Given the description of an element on the screen output the (x, y) to click on. 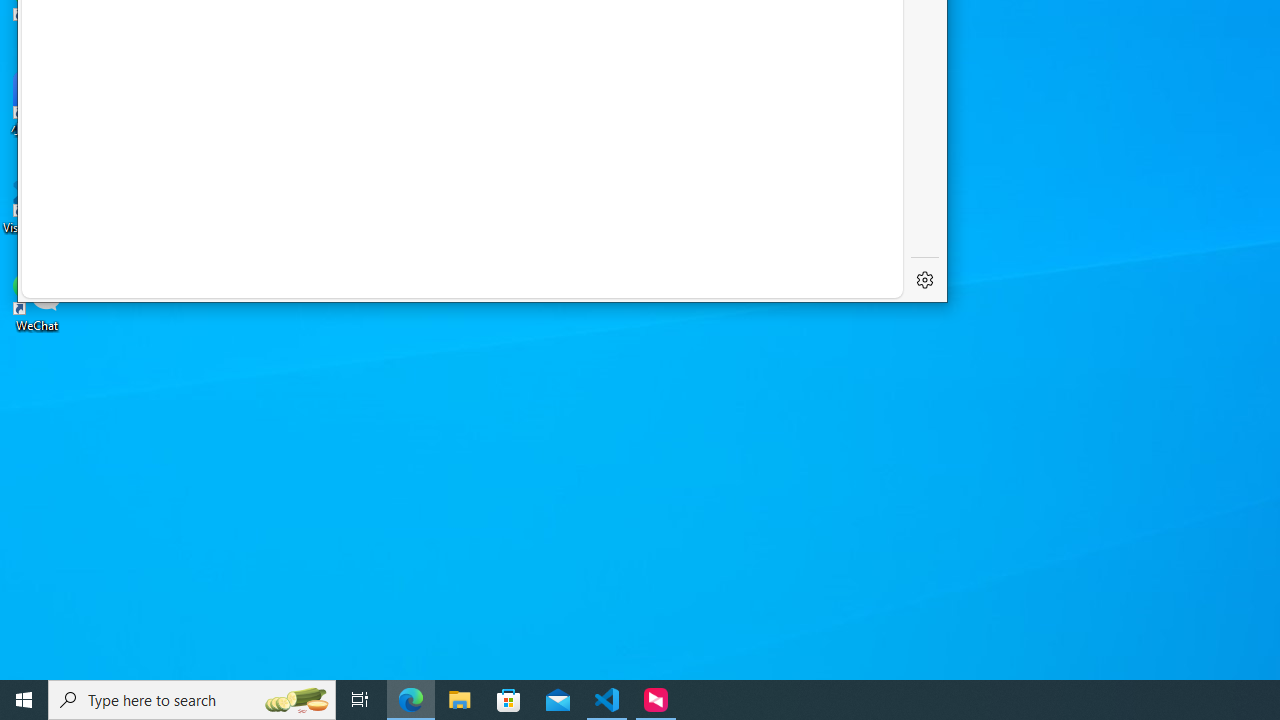
Task View (359, 699)
Microsoft Store (509, 699)
Microsoft Edge - 1 running window (411, 699)
File Explorer (460, 699)
Visual Studio Code - 1 running window (607, 699)
Search highlights icon opens search home window (295, 699)
Start (24, 699)
Type here to search (191, 699)
